Given the description of an element on the screen output the (x, y) to click on. 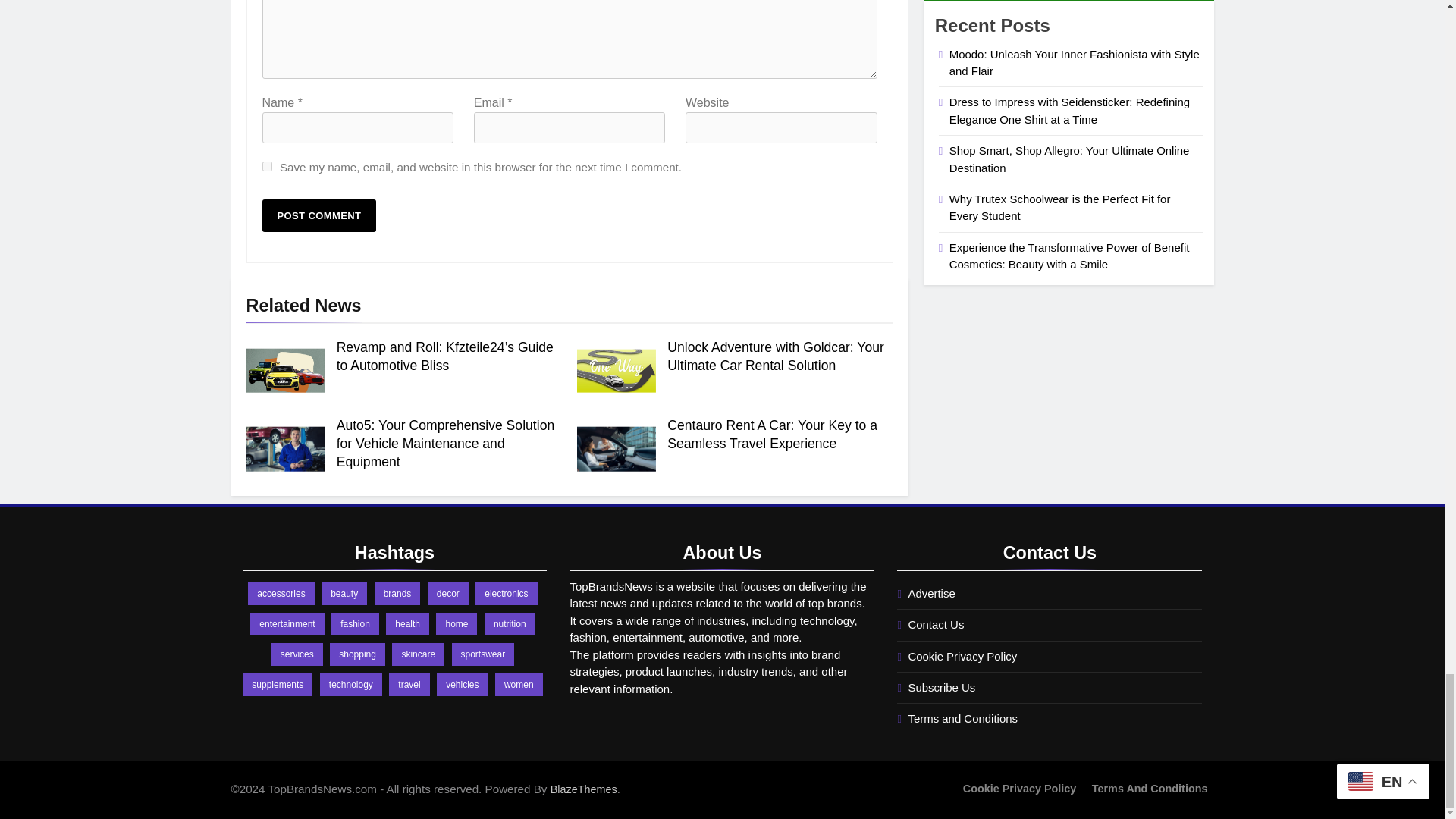
yes (267, 166)
Post Comment (319, 215)
